Given the description of an element on the screen output the (x, y) to click on. 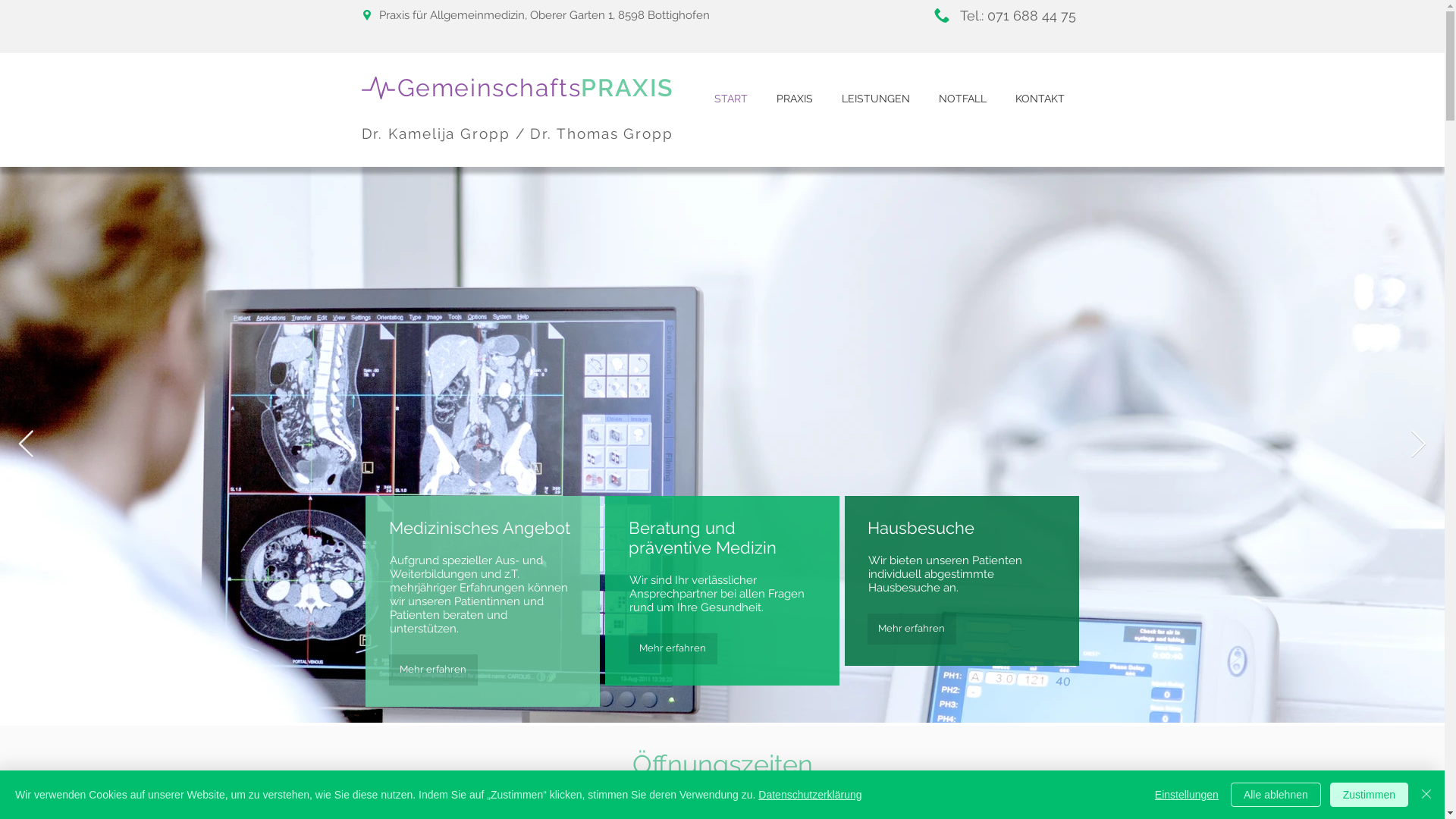
START Element type: text (730, 98)
Mehr erfahren Element type: text (911, 628)
GemeinschaftsPRAXIS Element type: text (535, 87)
Alle ablehnen Element type: text (1275, 794)
NOTFALL Element type: text (961, 98)
PRAXIS Element type: text (793, 98)
LEISTUNGEN Element type: text (874, 98)
Mehr erfahren Element type: text (671, 648)
Mehr erfahren Element type: text (432, 669)
Zustimmen Element type: text (1369, 794)
KONTAKT Element type: text (1040, 98)
Dr. Kamelija  Element type: text (410, 133)
